Given the description of an element on the screen output the (x, y) to click on. 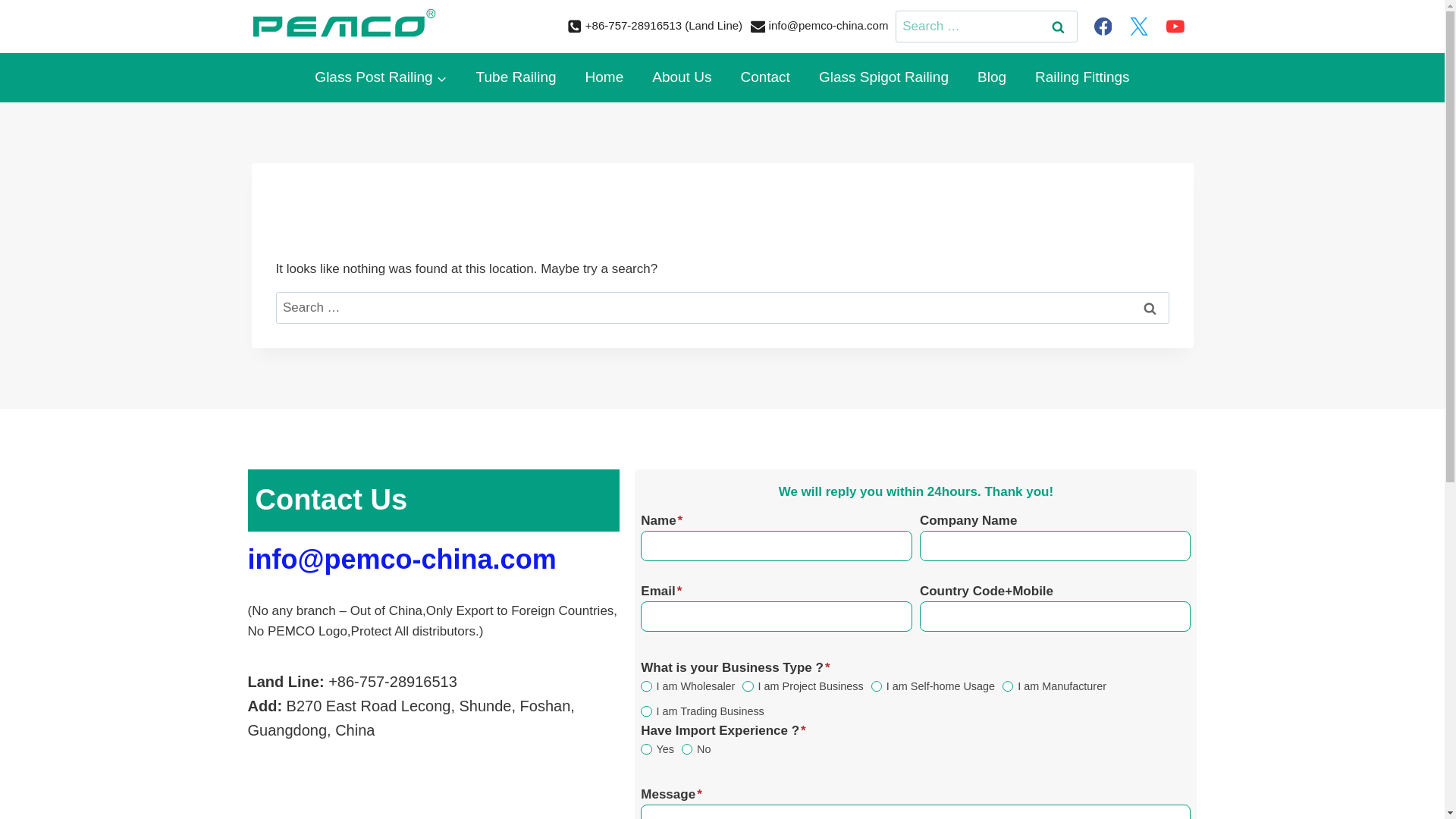
Search (1150, 307)
Search (1058, 26)
I am Trading Business (645, 710)
Yes (645, 748)
Search (1150, 307)
Search (1058, 26)
I am Self-home Usage (876, 685)
Glass Spigot Railing (883, 77)
About Us (681, 77)
Railing Fittings (1082, 77)
